Given the description of an element on the screen output the (x, y) to click on. 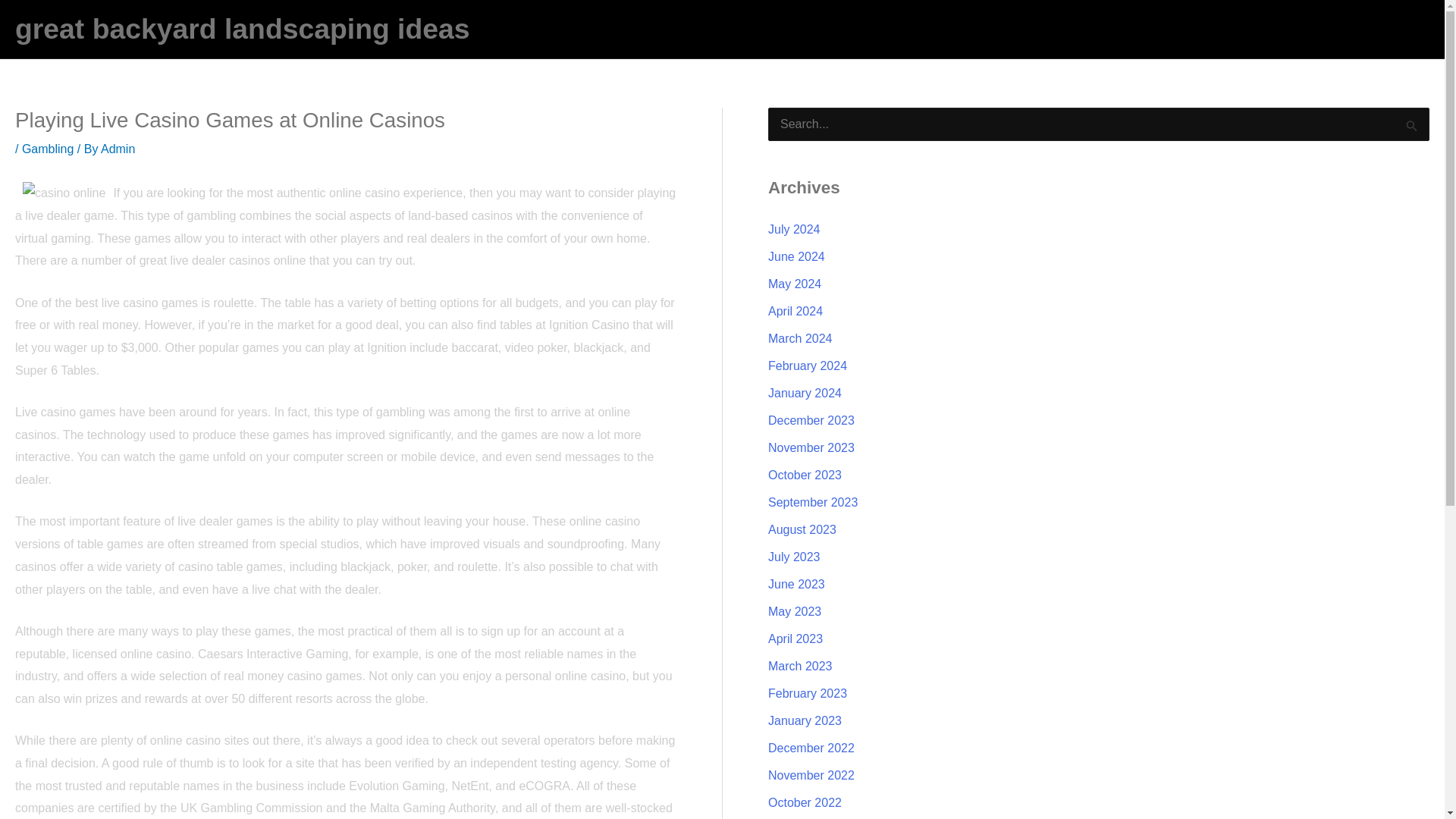
February 2023 (807, 693)
April 2023 (795, 638)
November 2023 (811, 447)
December 2022 (811, 748)
July 2024 (794, 228)
April 2024 (795, 310)
October 2023 (804, 474)
Gambling (47, 148)
March 2023 (800, 666)
May 2023 (794, 611)
June 2023 (796, 584)
View all posts by Admin (117, 148)
August 2023 (801, 529)
February 2024 (807, 365)
March 2024 (800, 338)
